Given the description of an element on the screen output the (x, y) to click on. 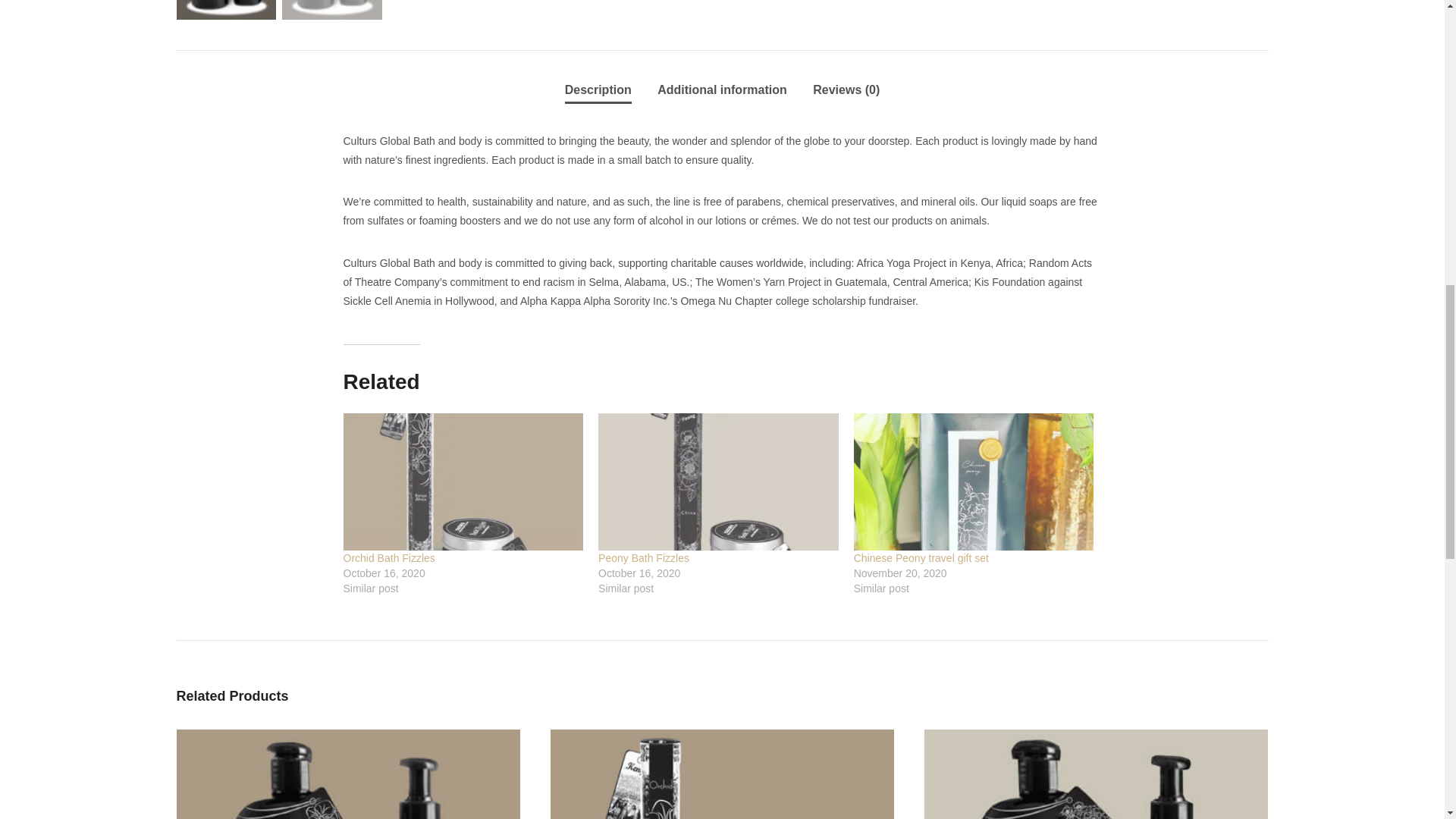
Orchid Bath Fizzles (462, 481)
Orchid Bath Fizzles (387, 558)
